Given the description of an element on the screen output the (x, y) to click on. 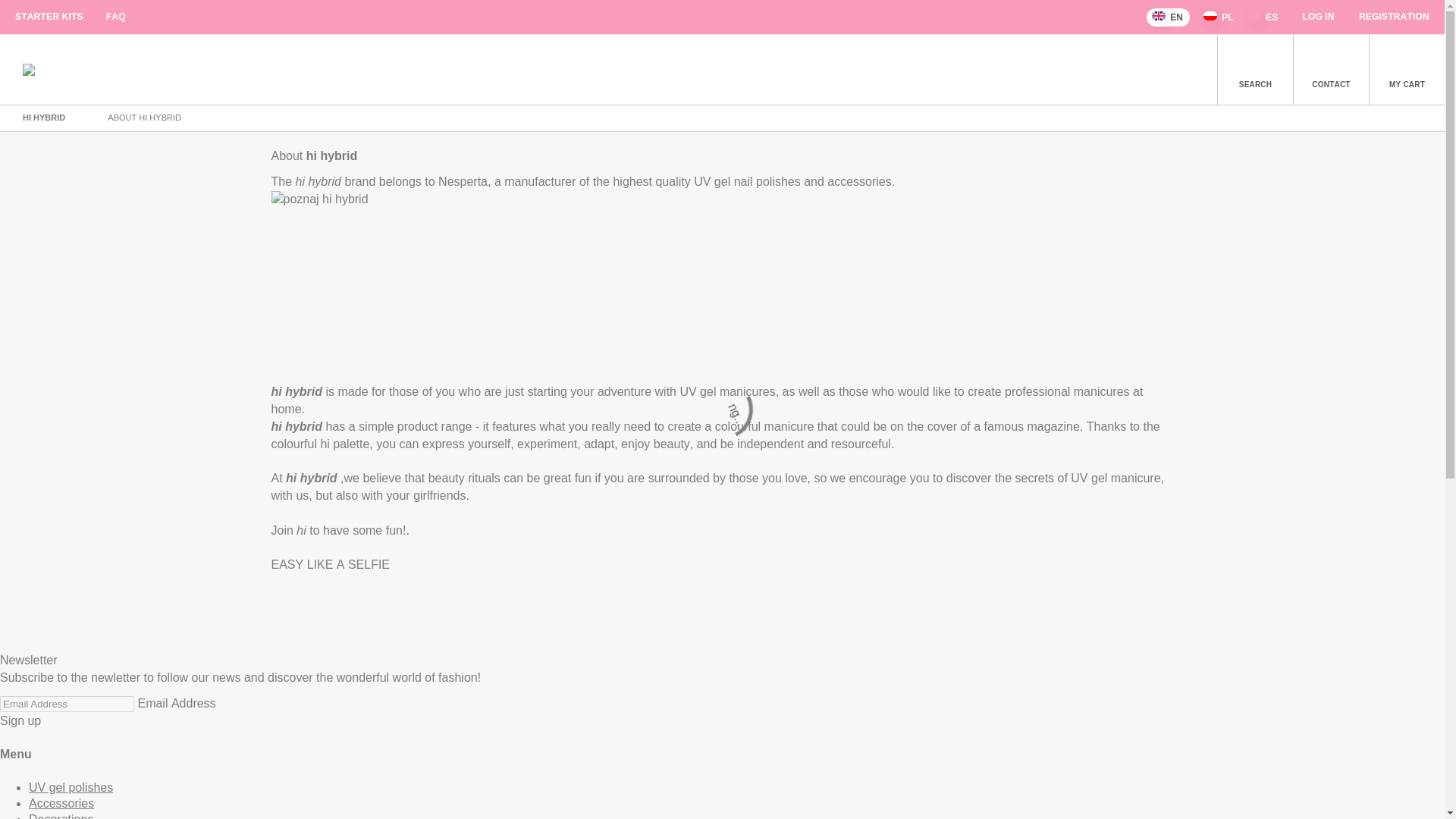
Accessories (61, 802)
PL (1219, 16)
STARTER KITS (48, 16)
CONTACT (1330, 69)
FAQ (115, 16)
UV gel polishes (71, 787)
REGISTRATION (1393, 16)
HI HYBRID (44, 117)
Decorations (61, 816)
LOG IN (1318, 16)
